Given the description of an element on the screen output the (x, y) to click on. 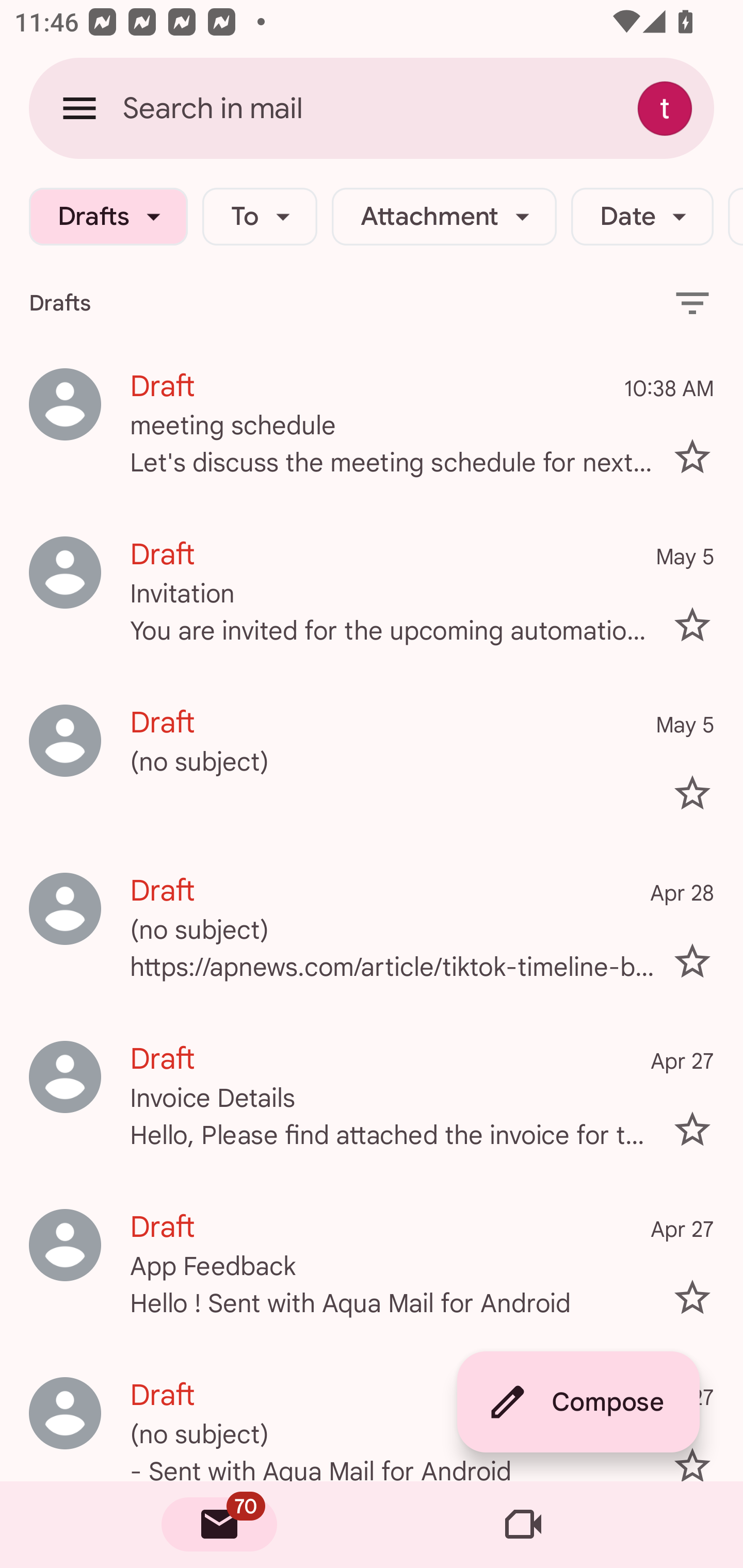
Open navigation drawer (79, 108)
Drafts (107, 217)
To (259, 217)
Attachment (444, 217)
Date (642, 217)
Filter icon (692, 302)
Compose (577, 1401)
Meet (523, 1524)
